Given the description of an element on the screen output the (x, y) to click on. 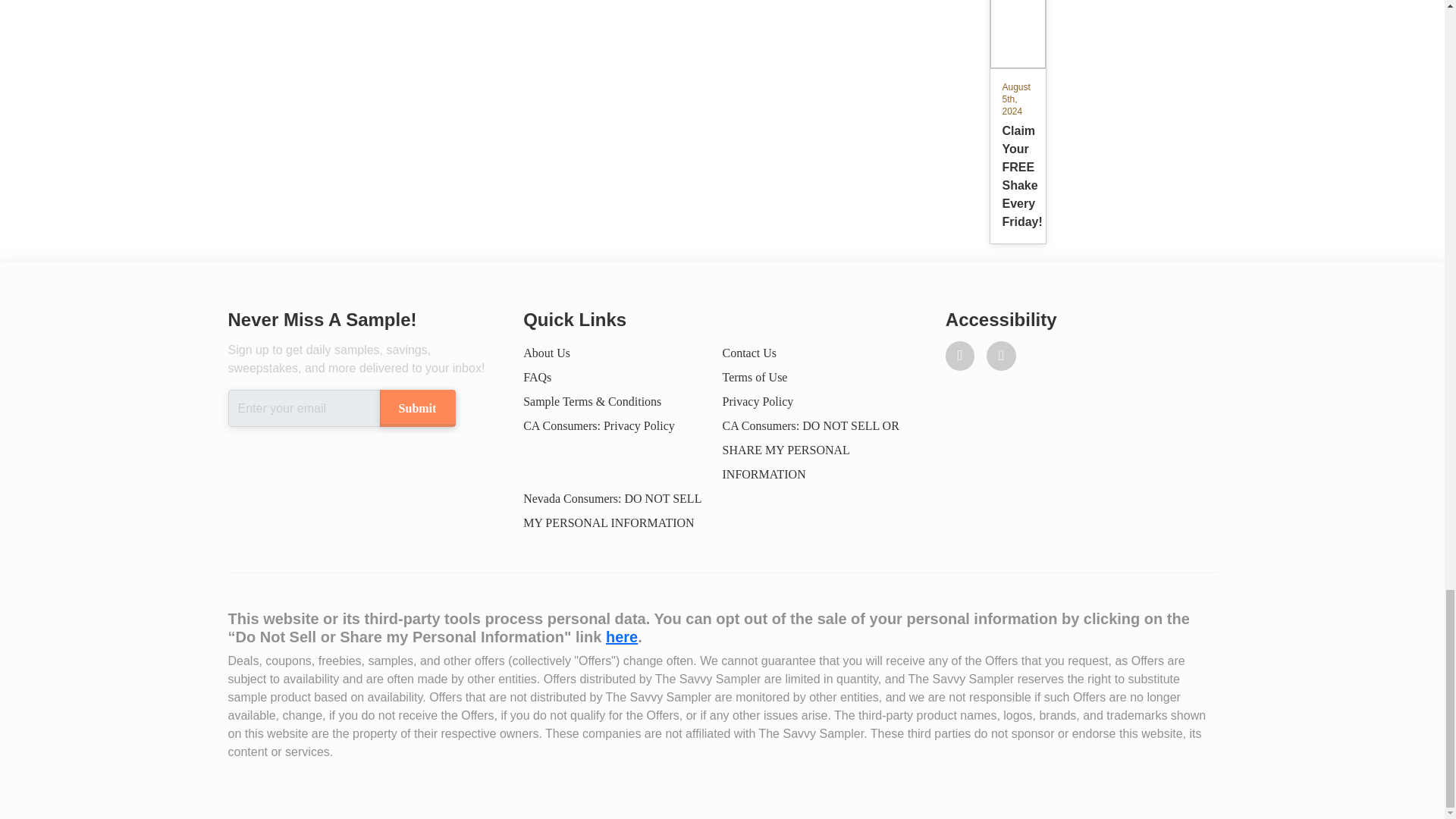
Submit (416, 407)
Nevada Consumers: DO NOT SELL MY PERSONAL INFORMATION (611, 510)
Contact Us (749, 352)
FAQs (536, 377)
CA Consumers: Privacy Policy (598, 425)
CA Consumers: DO NOT SELL OR SHARE MY PERSONAL INFORMATION (810, 449)
Privacy Policy (1016, 113)
here (757, 400)
Terms of Use (621, 636)
About Us (754, 377)
